Given the description of an element on the screen output the (x, y) to click on. 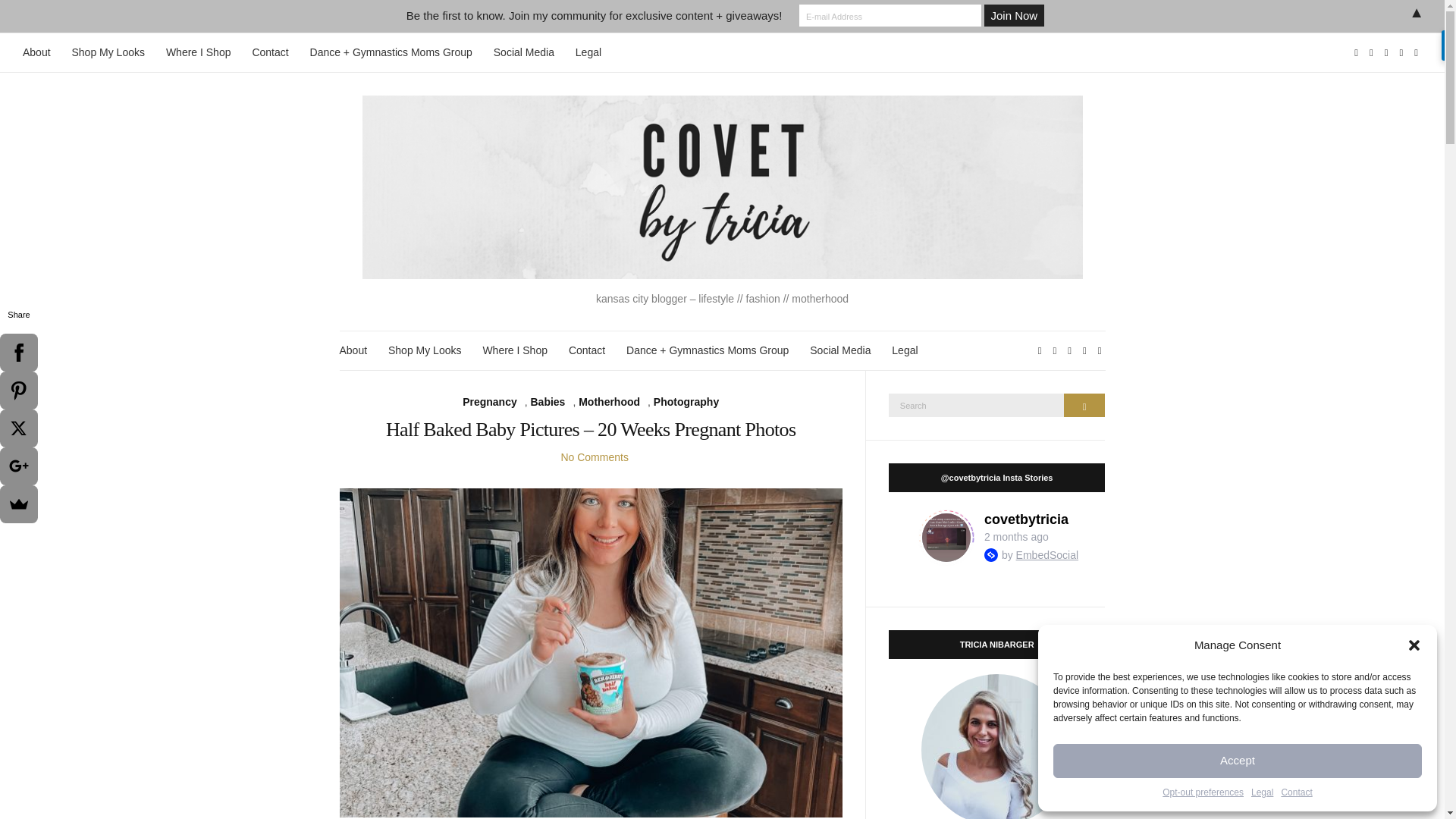
Legal (588, 52)
Contact (1296, 792)
Where I Shop (198, 52)
Legal (904, 350)
EmbedStories widget (996, 537)
Social Media (523, 52)
Shop My Looks (107, 52)
Contact (587, 350)
Contact (269, 52)
About (36, 52)
Where I Shop (514, 350)
About (353, 350)
Social Media (839, 350)
Join Now (1013, 15)
